Given the description of an element on the screen output the (x, y) to click on. 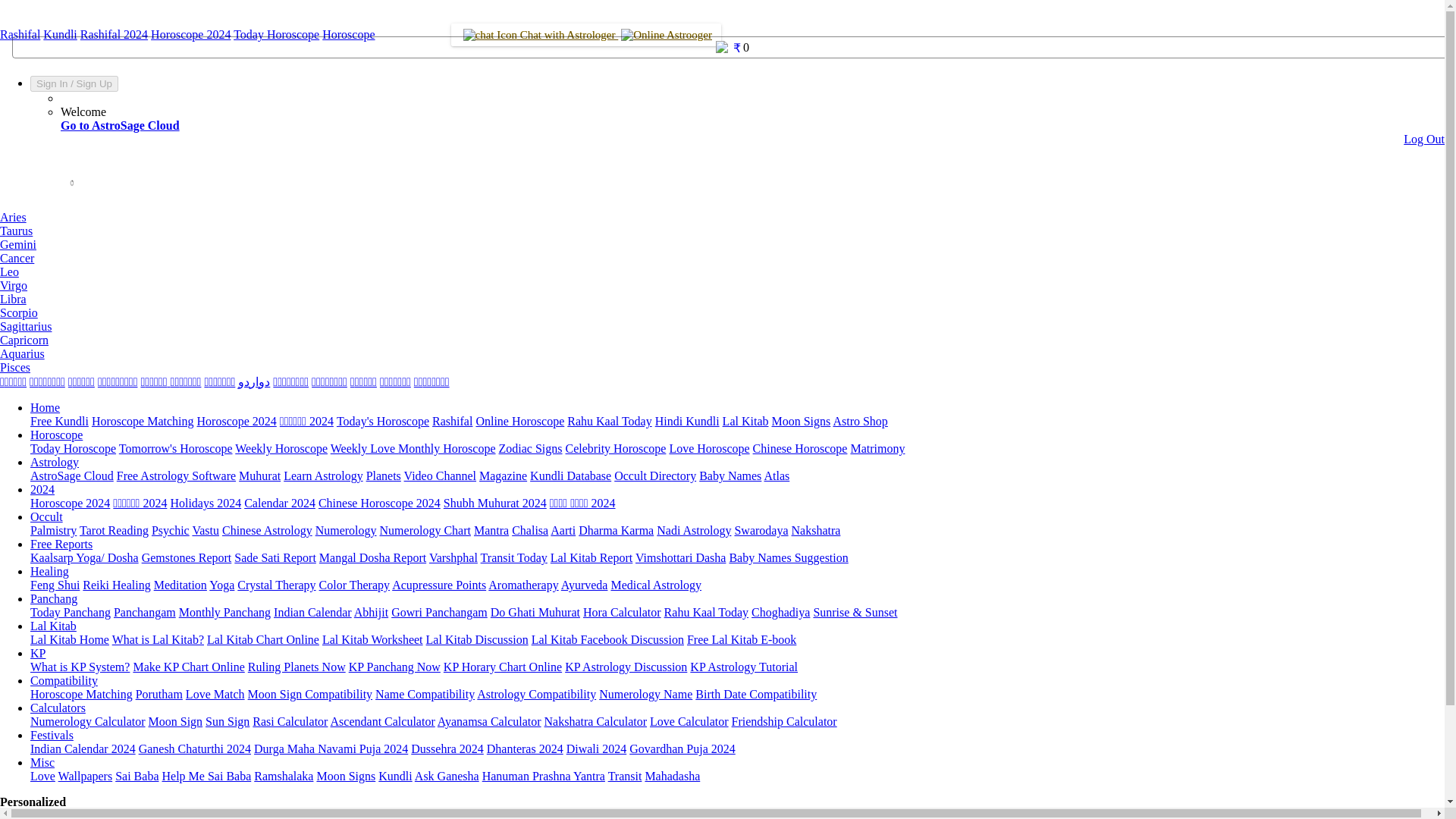
Aries (13, 216)
Taurus (16, 230)
Log Out (1423, 138)
Kundli (60, 33)
Punjabi (431, 381)
Tamil (13, 381)
Rashifal (20, 33)
Wallet (722, 58)
Scorpio (18, 312)
Marathi (154, 381)
